Given the description of an element on the screen output the (x, y) to click on. 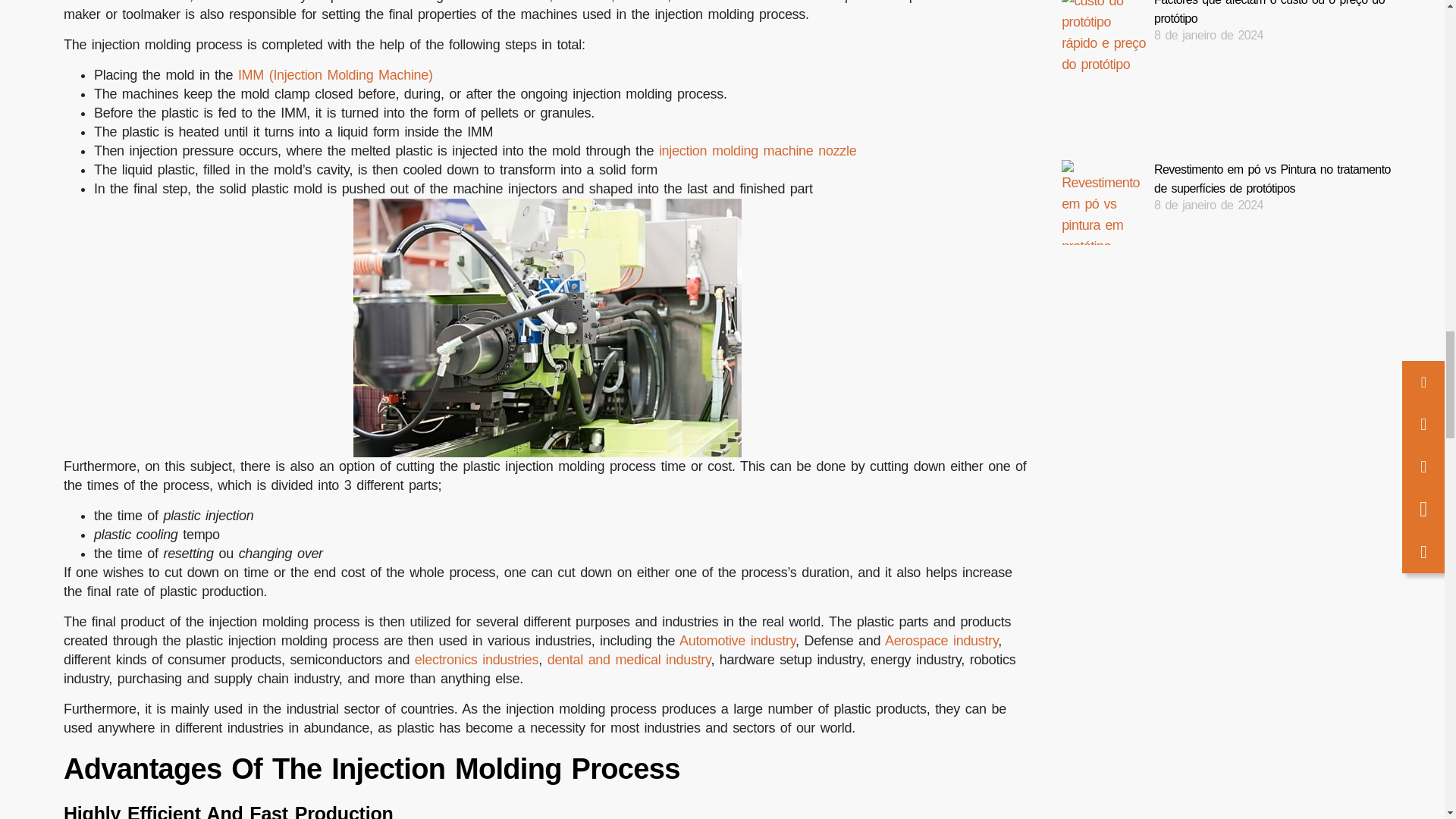
electronics industries (476, 659)
dental and medical industry (629, 659)
Aerospace industry (941, 640)
Automotive industry (736, 640)
